Given the description of an element on the screen output the (x, y) to click on. 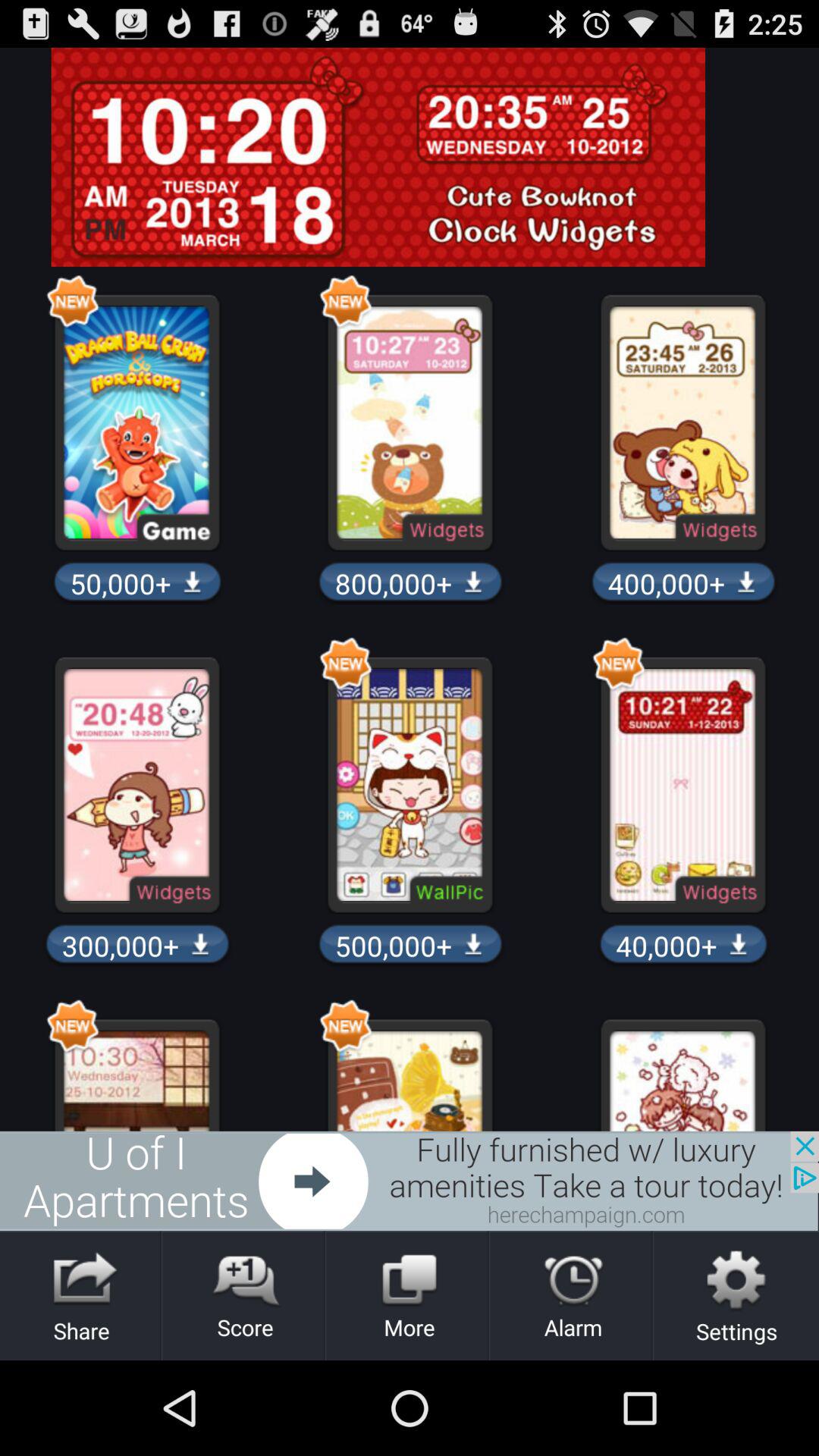
select the advertisement (409, 1180)
